Given the description of an element on the screen output the (x, y) to click on. 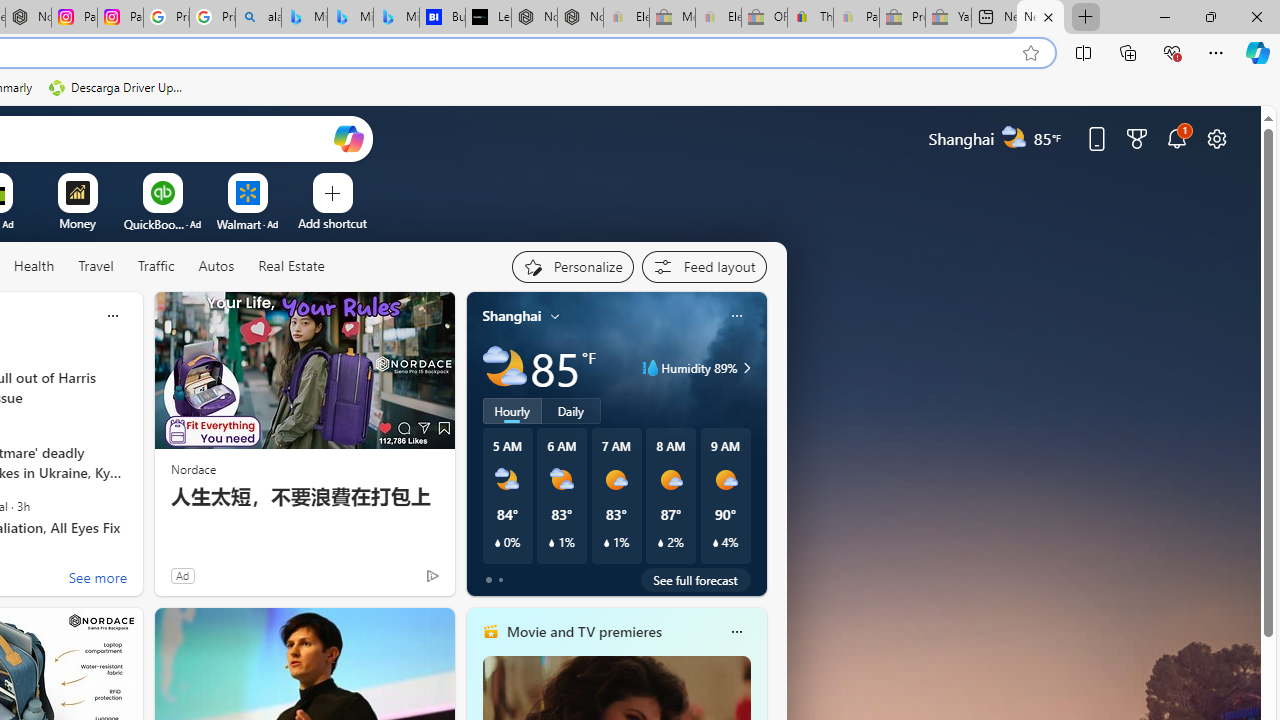
Traffic (155, 265)
Humidity 89% (744, 367)
tab-1 (500, 579)
Class: weather-current-precipitation-glyph (715, 543)
Descarga Driver Updater (118, 88)
